Given the description of an element on the screen output the (x, y) to click on. 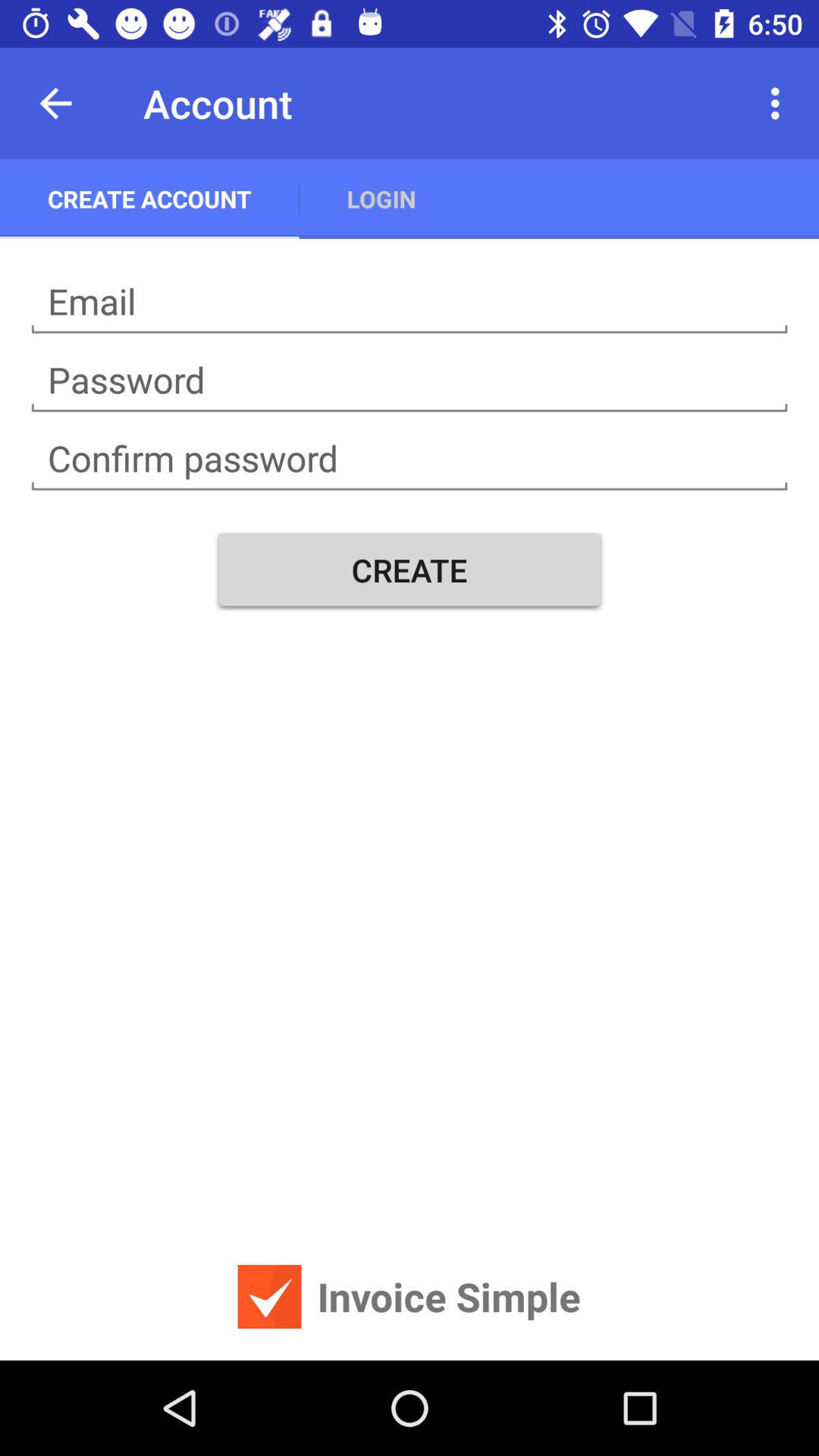
flip to login icon (381, 198)
